Given the description of an element on the screen output the (x, y) to click on. 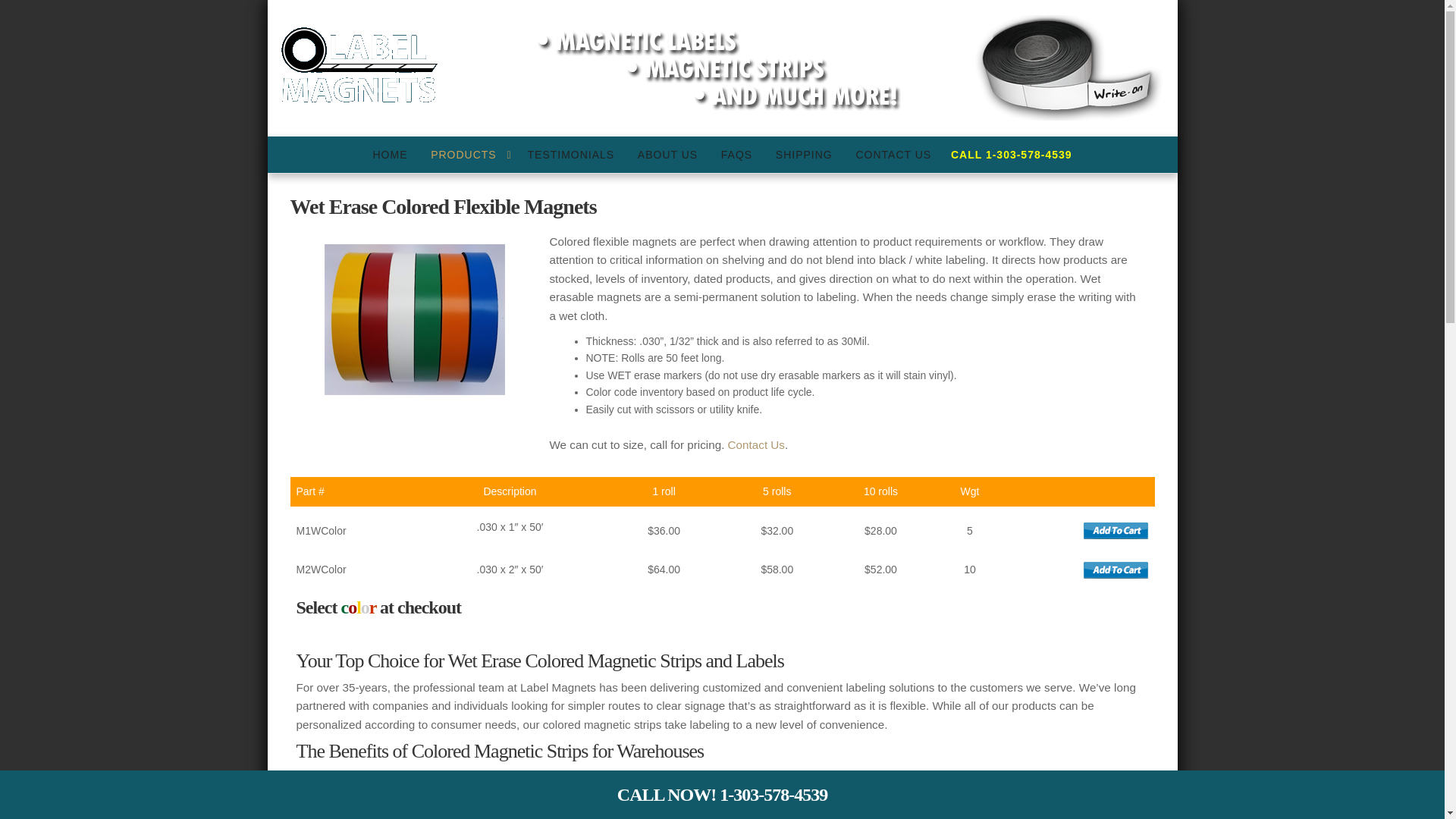
SHIPPING   (807, 154)
FAQS   (739, 154)
ABOUT US   (671, 154)
TESTIMONIALS   (574, 154)
HOME   (393, 154)
PRODUCTS   (470, 154)
